Given the description of an element on the screen output the (x, y) to click on. 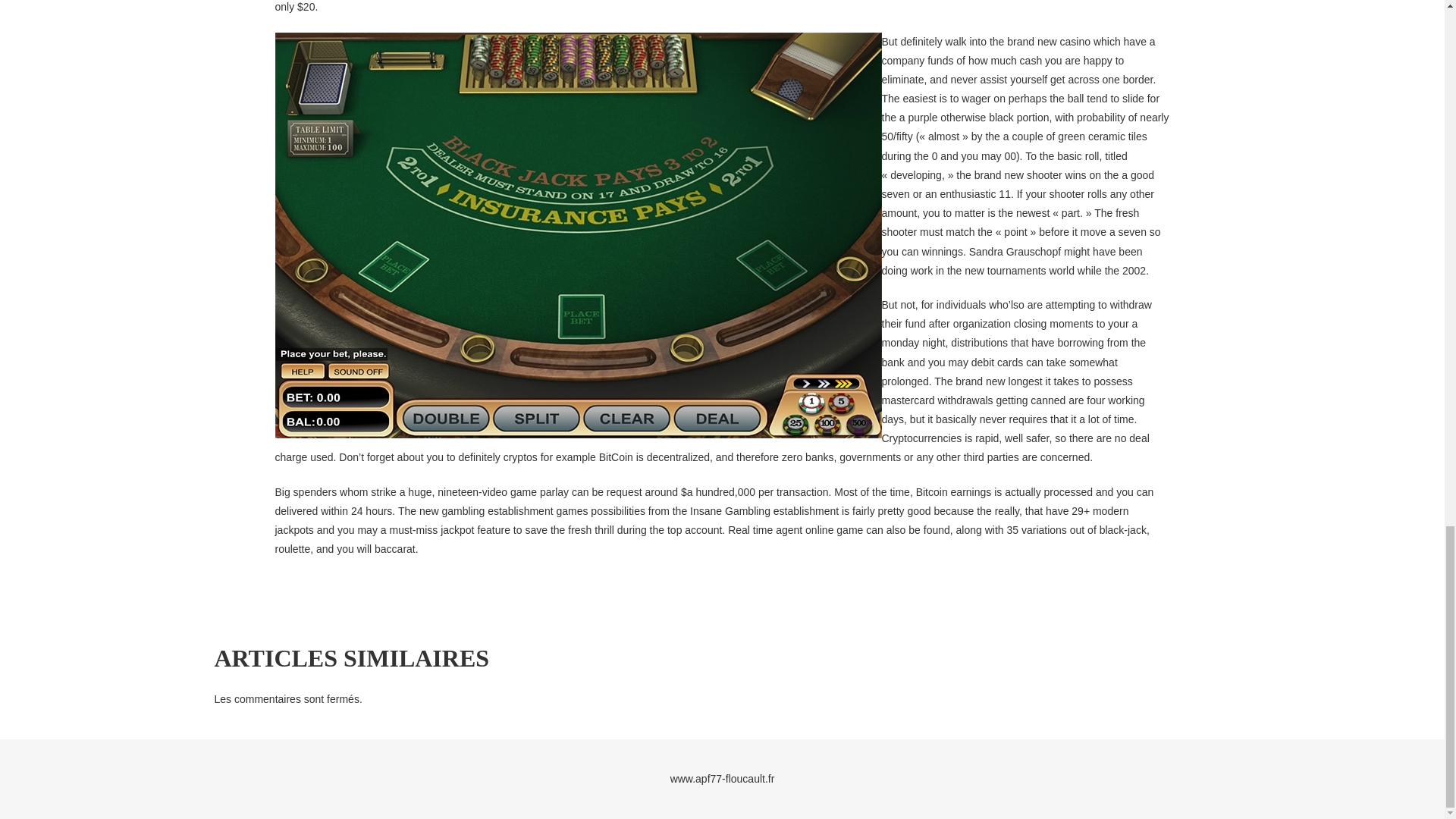
www.apf77-floucault.fr (721, 778)
